Given the description of an element on the screen output the (x, y) to click on. 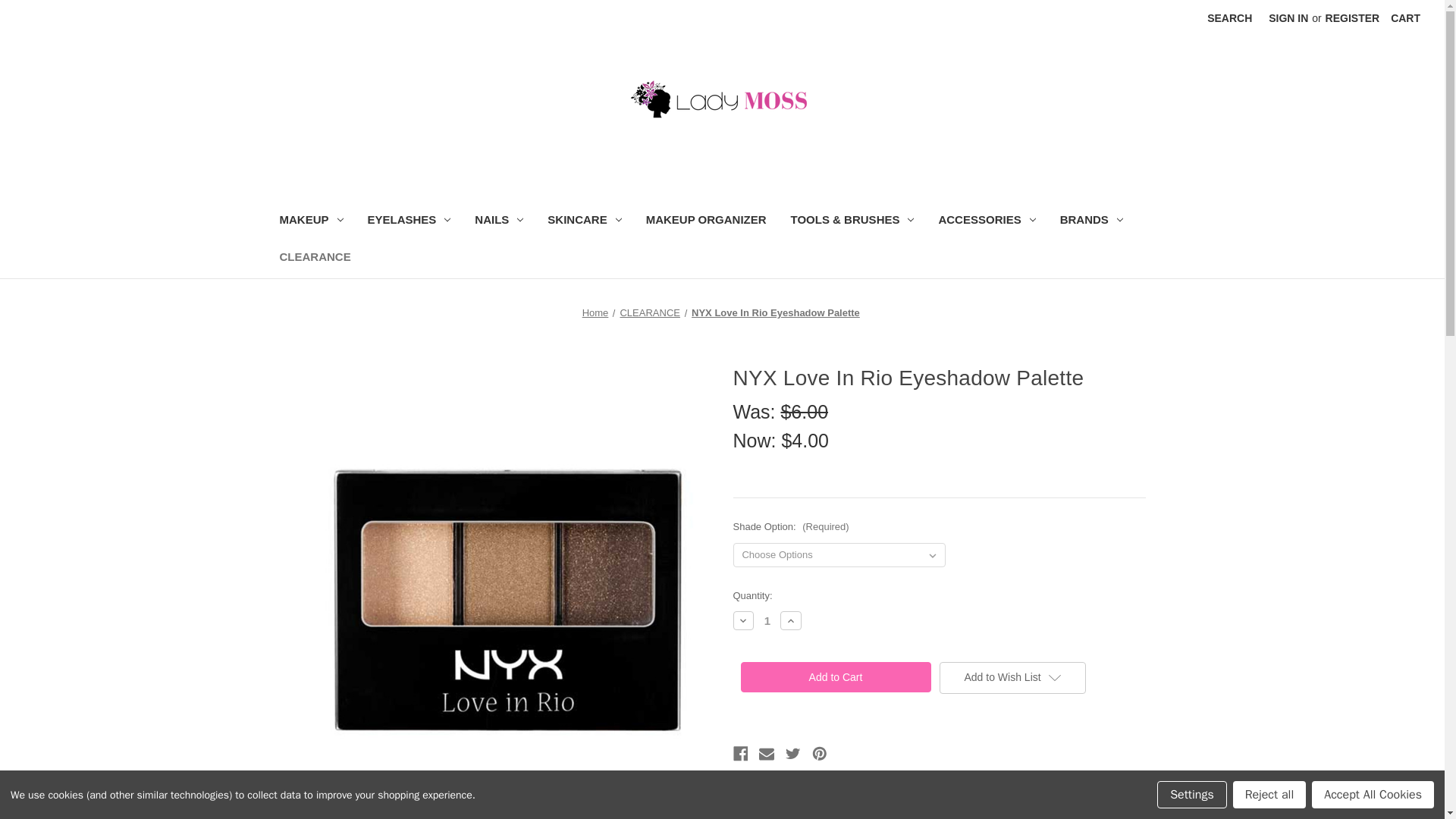
MAKEUP (310, 221)
REGISTER (1353, 18)
Add to Cart (834, 676)
Lady Moss Beauty (721, 98)
CART (1404, 18)
SIGN IN (1288, 18)
1 (767, 620)
SEARCH (1229, 18)
EYELASHES (409, 221)
